Given the description of an element on the screen output the (x, y) to click on. 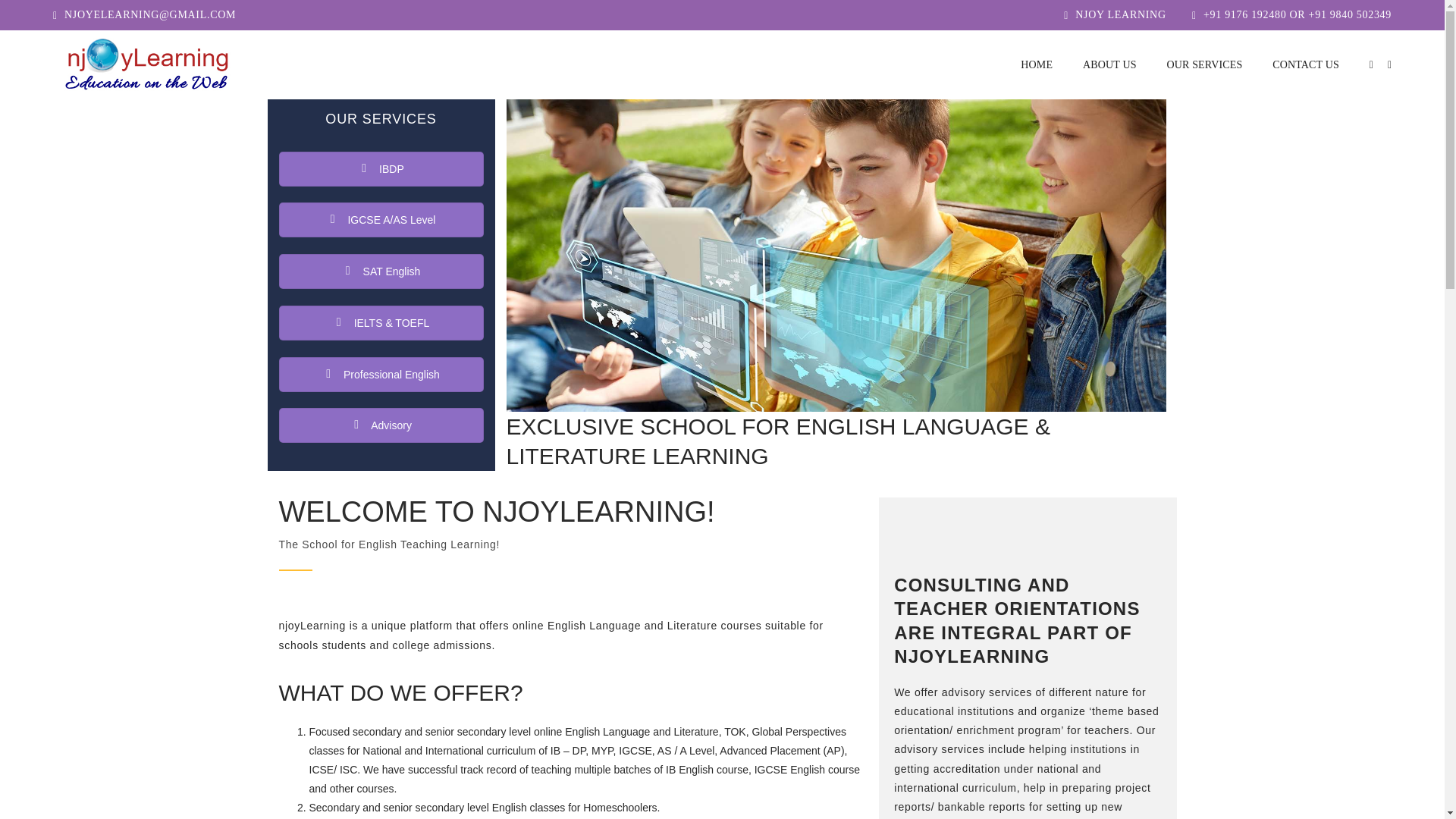
ABOUT US (1109, 64)
SAT English (381, 271)
CONTACT US (1305, 64)
IBDP (381, 168)
Advisory (381, 425)
OUR SERVICES (1205, 64)
HOME (1036, 64)
Professional English (381, 373)
